Given the description of an element on the screen output the (x, y) to click on. 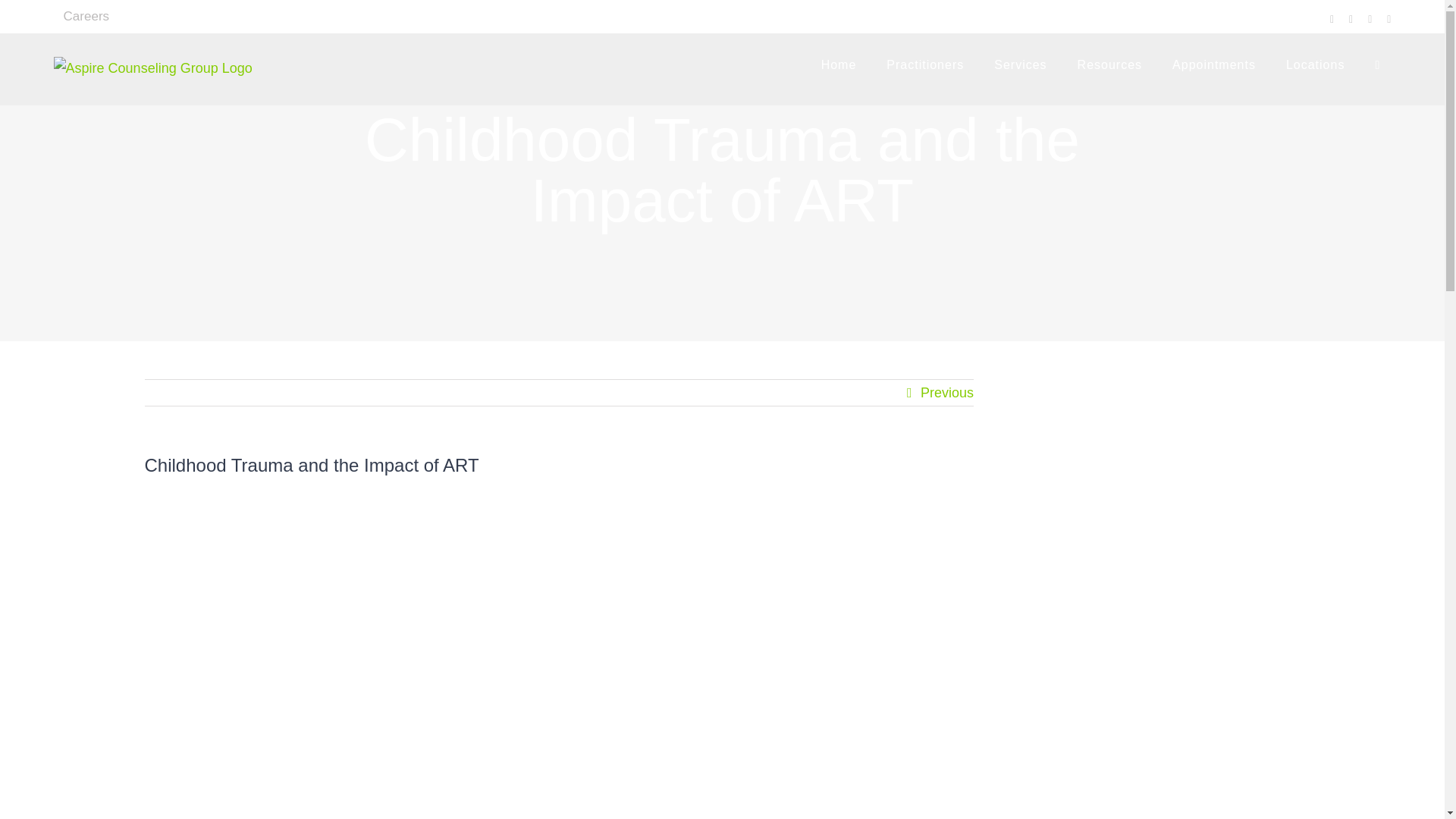
Practitioners (924, 65)
Careers (86, 16)
Resources (1109, 65)
